Given the description of an element on the screen output the (x, y) to click on. 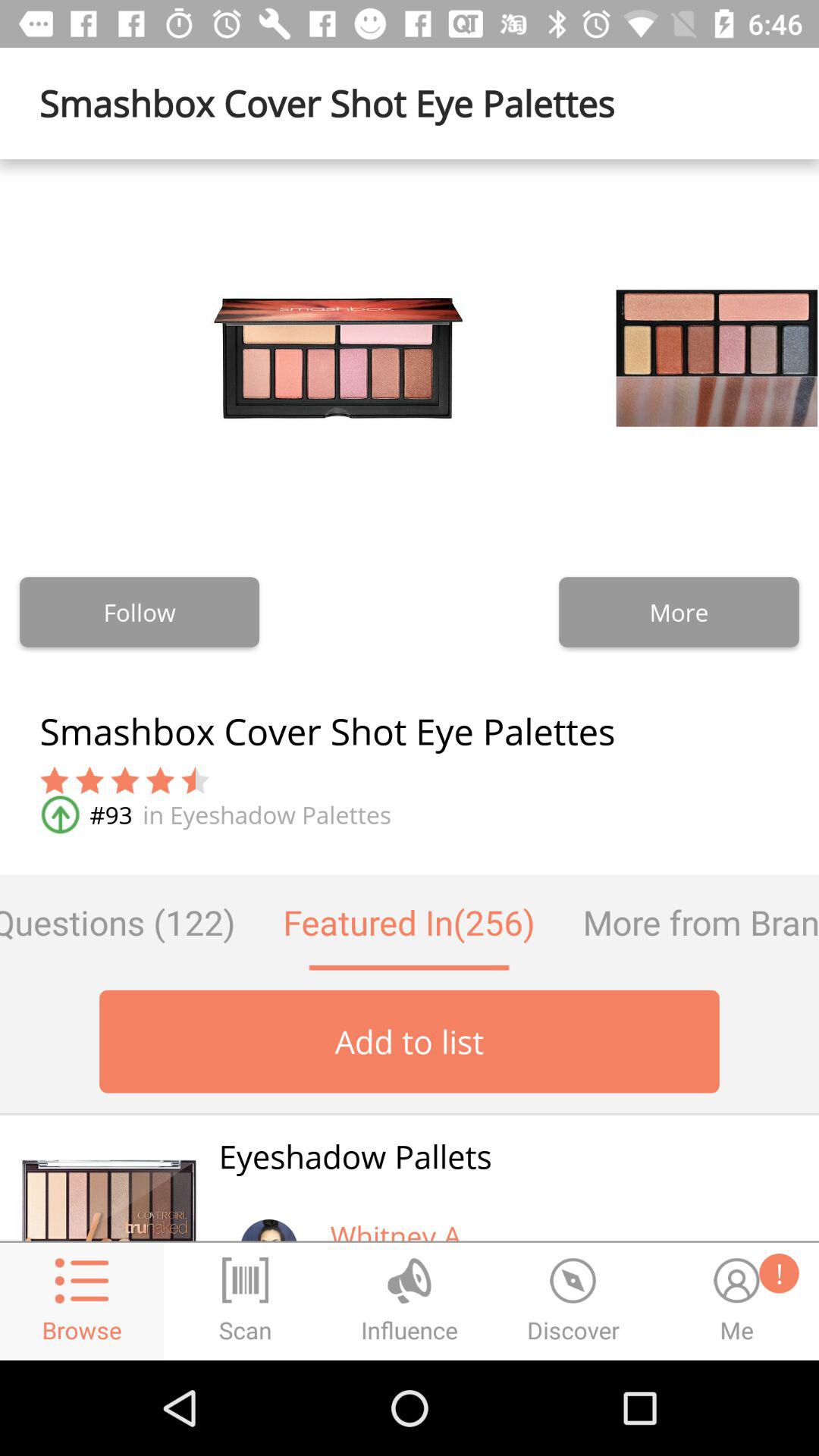
jump to questions (122) icon (129, 922)
